Given the description of an element on the screen output the (x, y) to click on. 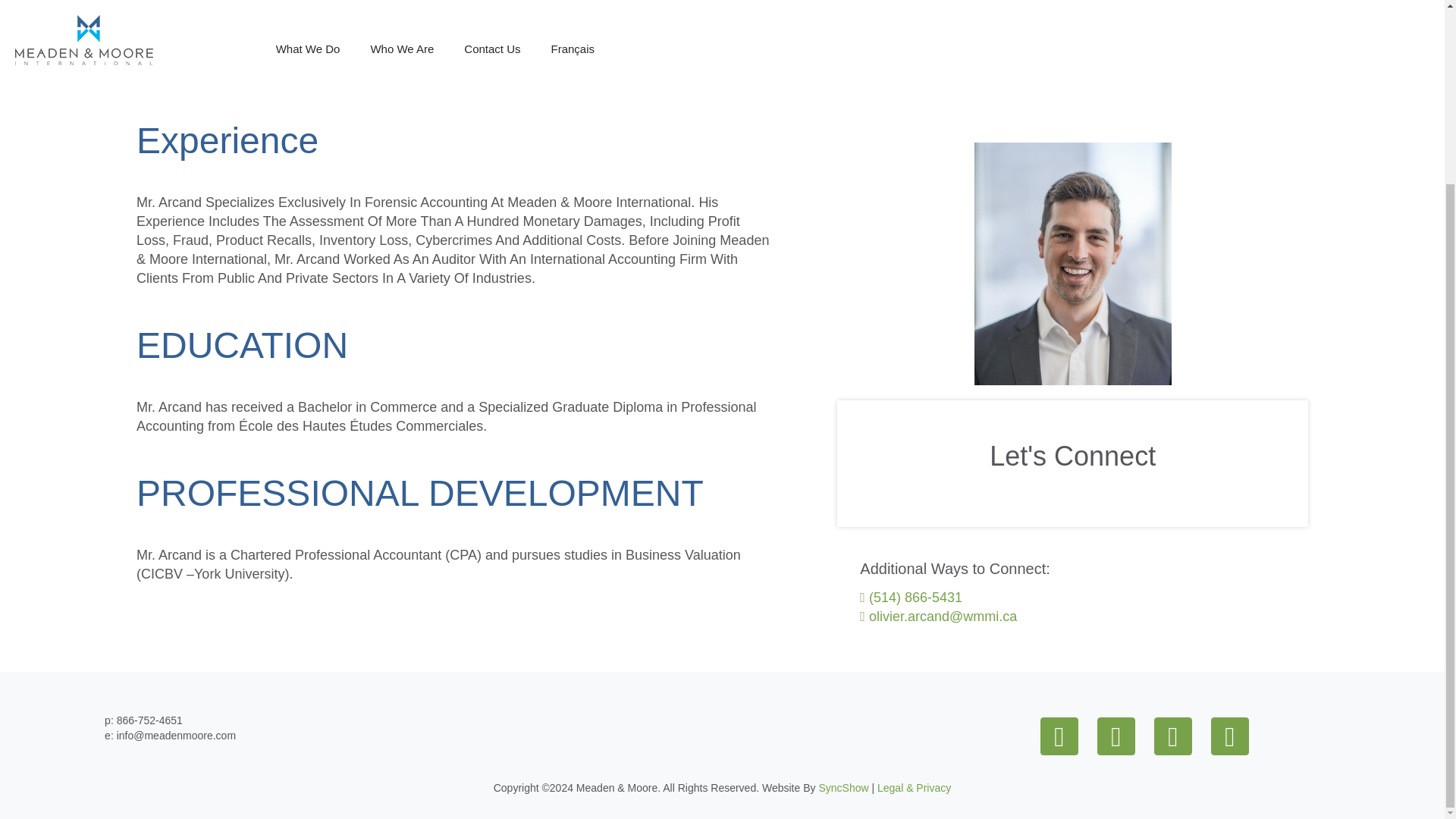
SyncShow (842, 787)
